Given the description of an element on the screen output the (x, y) to click on. 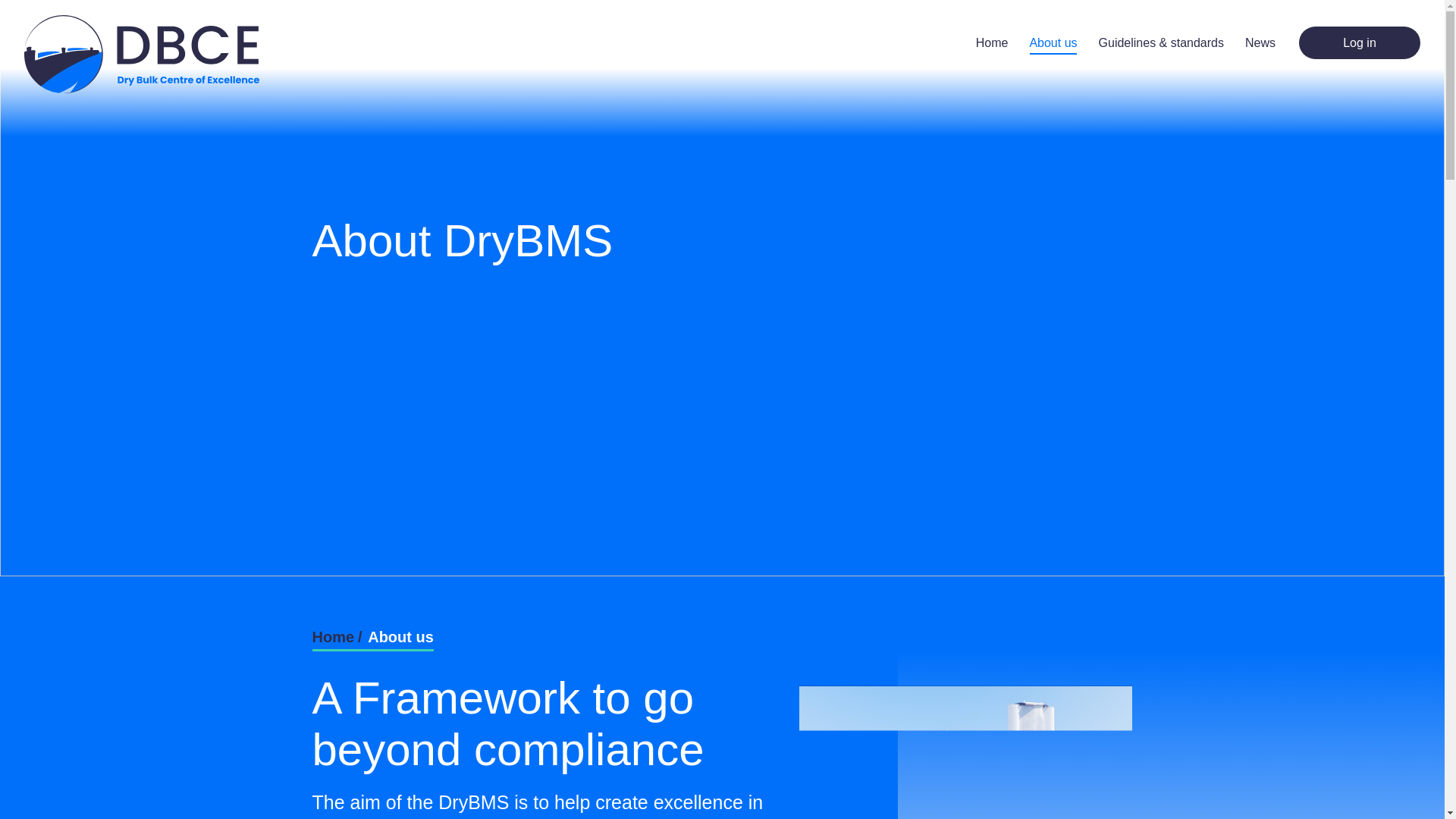
News (1259, 42)
Go to DBCE. (334, 636)
Home (992, 42)
Log in (1359, 42)
About us (1052, 42)
Home (334, 636)
